Given the description of an element on the screen output the (x, y) to click on. 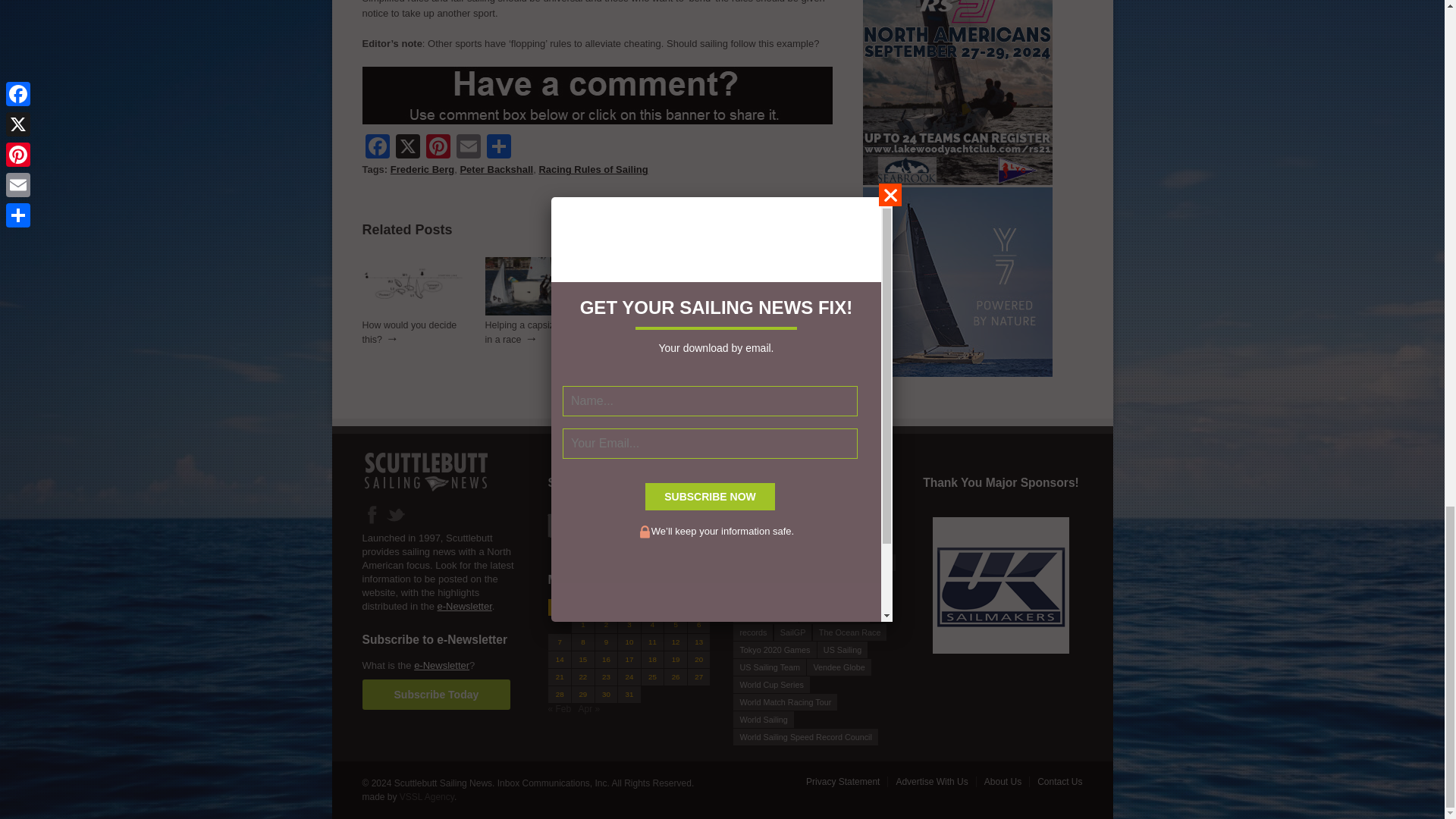
Facebook (377, 148)
Pinterest (437, 148)
Helping a capsized boat in a race (535, 312)
Email (467, 148)
Helping a capsized boat in a race (535, 332)
When entrants face extreme weather (781, 312)
How would you decide this? (409, 332)
How would you decide this? (655, 332)
Frederic Berg (422, 169)
X (408, 148)
Share (498, 148)
Pinterest (437, 148)
Racing Rules of Sailing (592, 169)
Peter Backshall (496, 169)
X (408, 148)
